Given the description of an element on the screen output the (x, y) to click on. 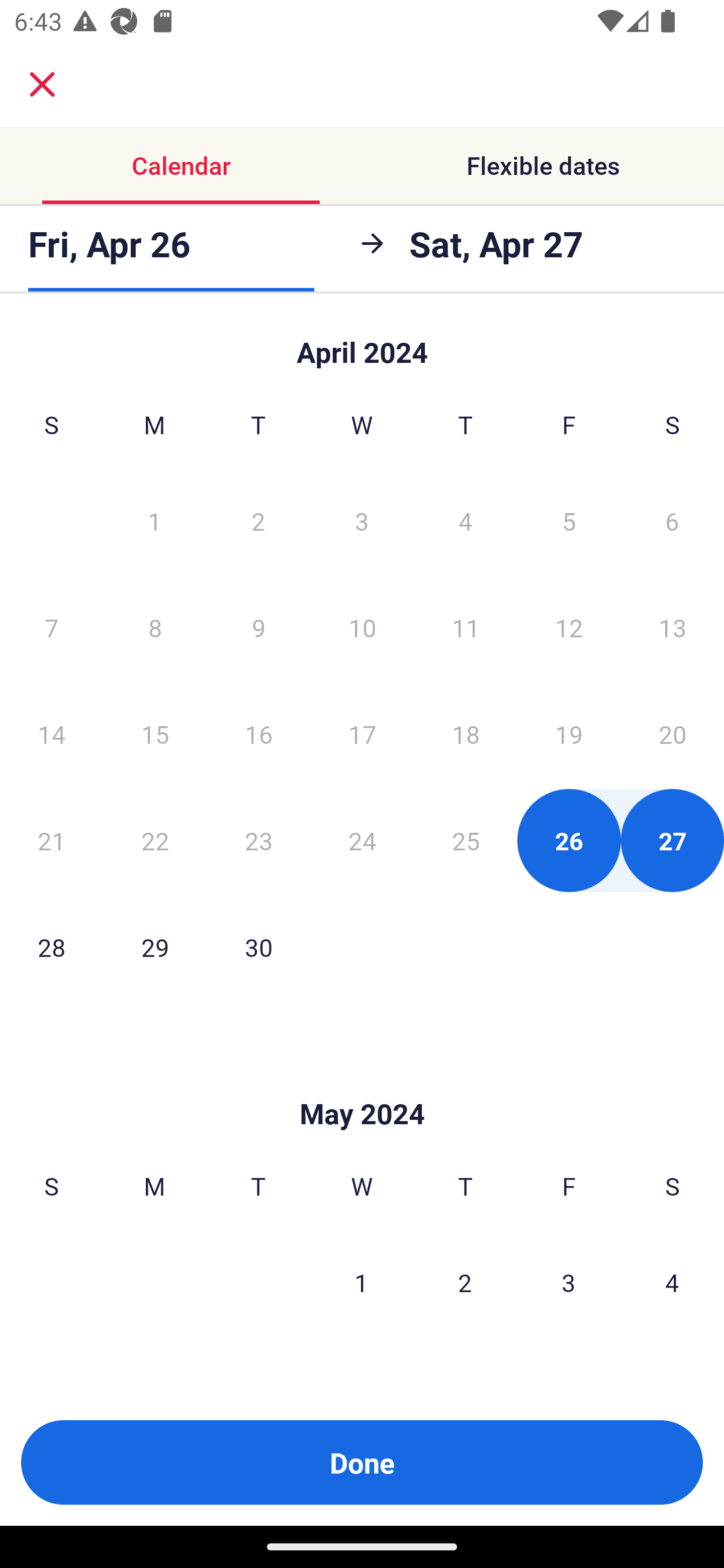
close. (42, 84)
Flexible dates (542, 164)
Skip to Done (362, 343)
1 Monday, April 1, 2024 (154, 520)
2 Tuesday, April 2, 2024 (257, 520)
3 Wednesday, April 3, 2024 (361, 520)
4 Thursday, April 4, 2024 (465, 520)
5 Friday, April 5, 2024 (568, 520)
6 Saturday, April 6, 2024 (672, 520)
7 Sunday, April 7, 2024 (51, 626)
8 Monday, April 8, 2024 (155, 626)
9 Tuesday, April 9, 2024 (258, 626)
10 Wednesday, April 10, 2024 (362, 626)
11 Thursday, April 11, 2024 (465, 626)
12 Friday, April 12, 2024 (569, 626)
13 Saturday, April 13, 2024 (672, 626)
14 Sunday, April 14, 2024 (51, 733)
15 Monday, April 15, 2024 (155, 733)
16 Tuesday, April 16, 2024 (258, 733)
17 Wednesday, April 17, 2024 (362, 733)
18 Thursday, April 18, 2024 (465, 733)
19 Friday, April 19, 2024 (569, 733)
20 Saturday, April 20, 2024 (672, 733)
21 Sunday, April 21, 2024 (51, 840)
22 Monday, April 22, 2024 (155, 840)
23 Tuesday, April 23, 2024 (258, 840)
24 Wednesday, April 24, 2024 (362, 840)
25 Thursday, April 25, 2024 (465, 840)
28 Sunday, April 28, 2024 (51, 946)
29 Monday, April 29, 2024 (155, 946)
30 Tuesday, April 30, 2024 (258, 946)
Skip to Done (362, 1083)
1 Wednesday, May 1, 2024 (361, 1282)
2 Thursday, May 2, 2024 (464, 1282)
3 Friday, May 3, 2024 (568, 1282)
4 Saturday, May 4, 2024 (672, 1282)
Done (361, 1462)
